Given the description of an element on the screen output the (x, y) to click on. 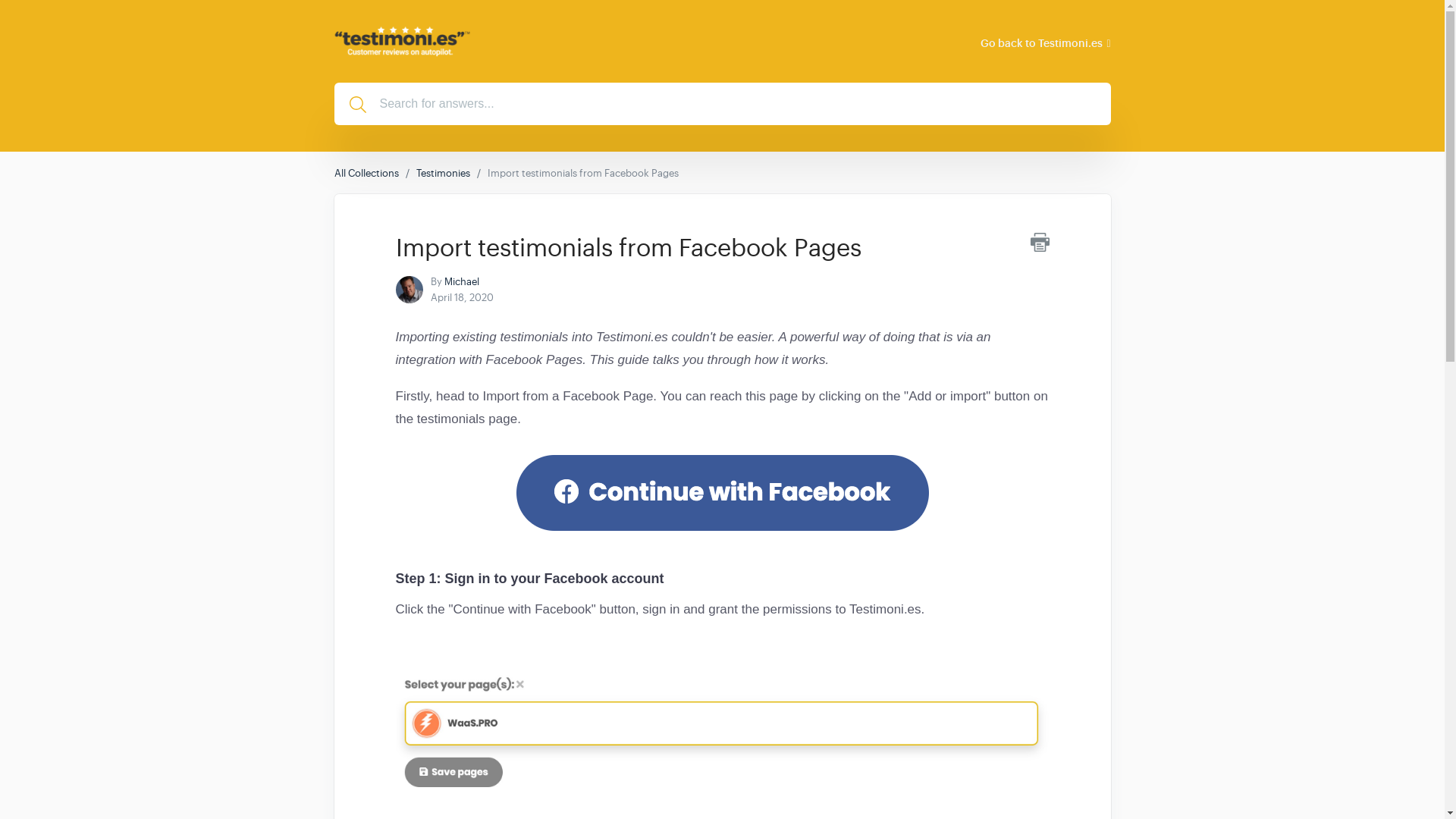
Testimonies (441, 173)
All Collections (365, 173)
Go back to Testimoni.es (1044, 43)
